Given the description of an element on the screen output the (x, y) to click on. 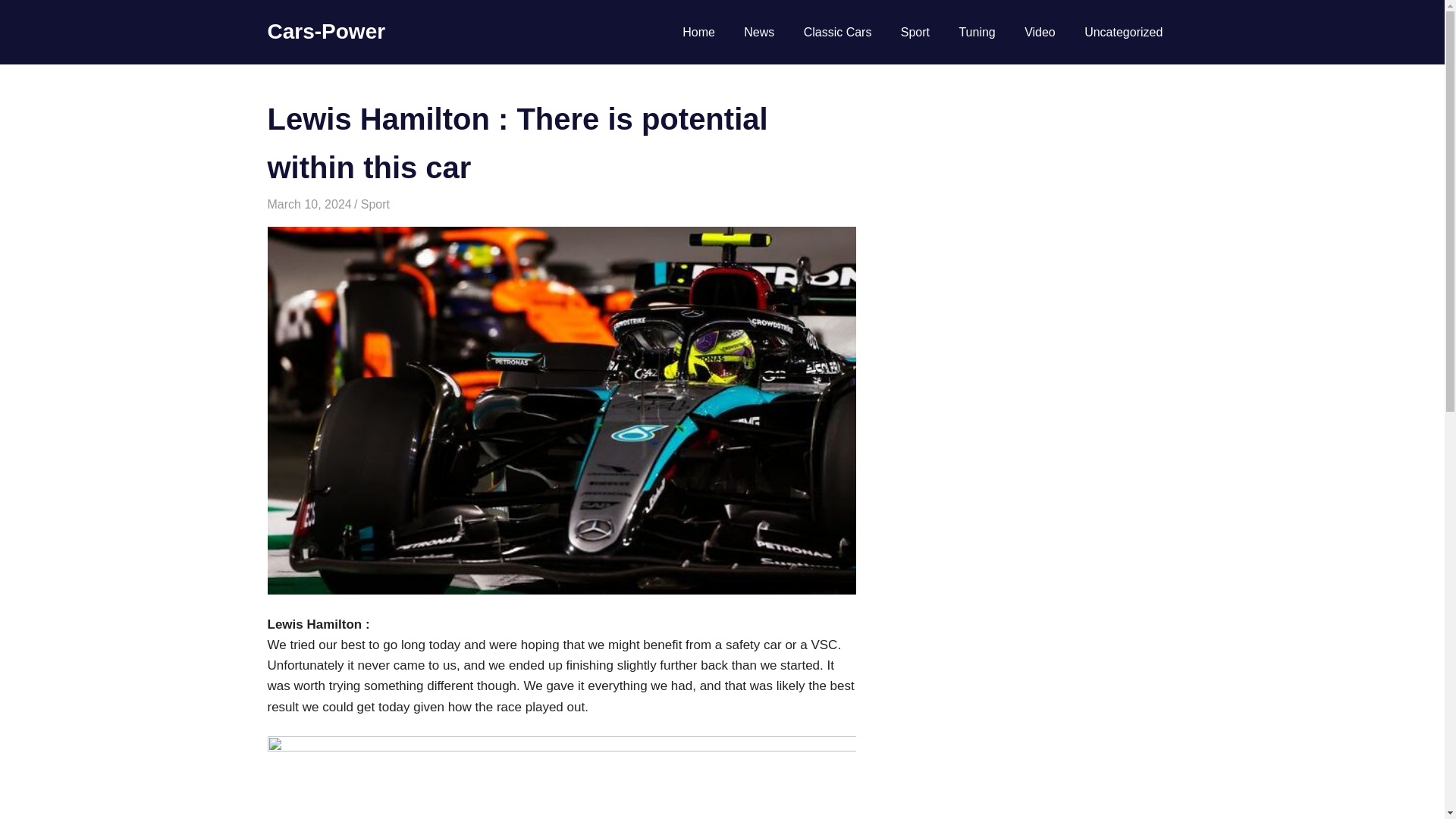
Home (698, 32)
Cars-Power (325, 31)
News (759, 32)
View all posts by cars-power.com (399, 204)
Sport (915, 32)
March 10, 2024 (308, 204)
Classic Cars (837, 32)
Tuning (976, 32)
Uncategorized (1123, 32)
cars-power.com (399, 204)
